Given the description of an element on the screen output the (x, y) to click on. 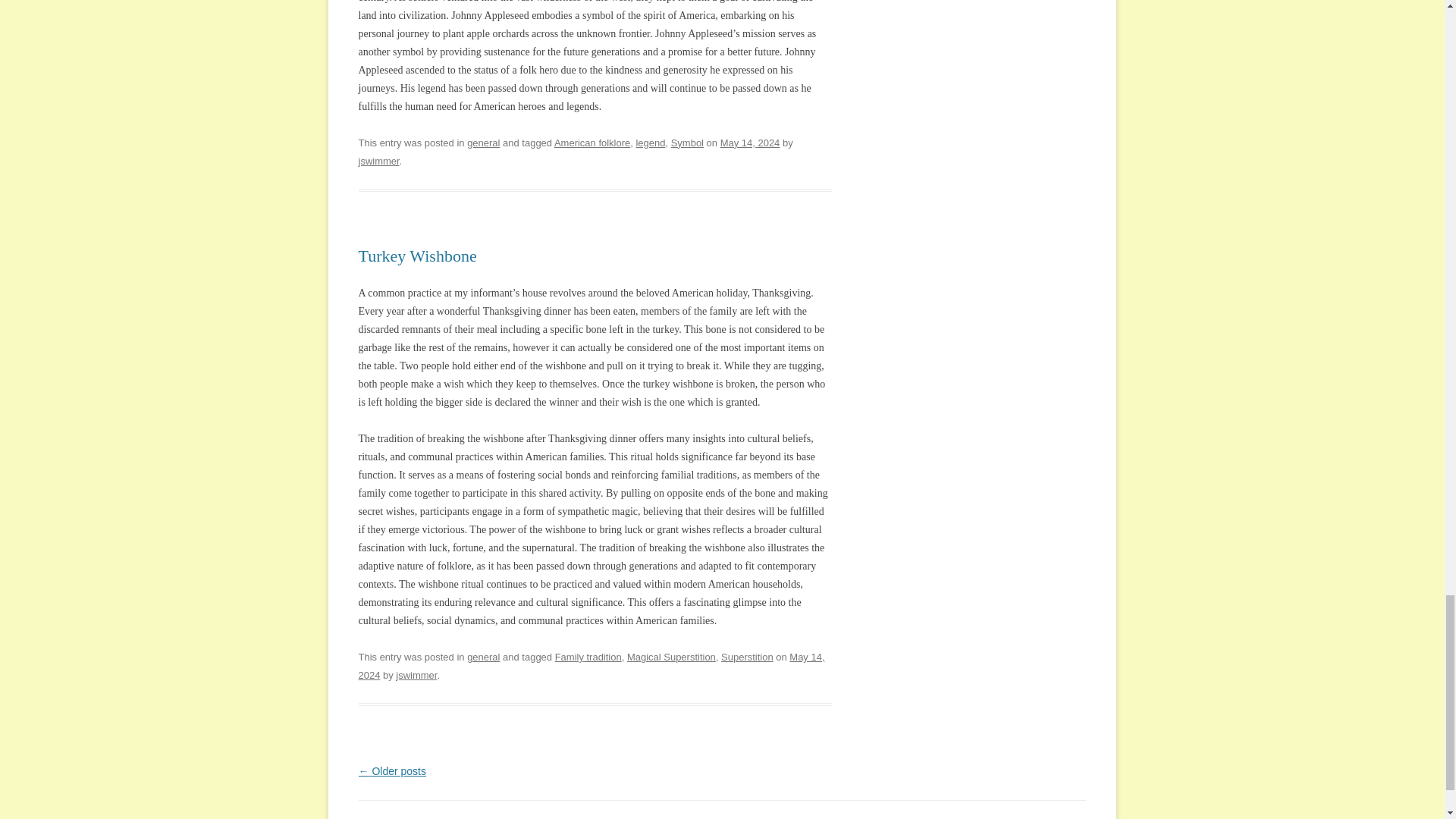
American folklore (592, 142)
10:49 am (750, 142)
jswimmer (378, 161)
May 14, 2024 (750, 142)
View all posts by jswimmer (378, 161)
10:48 am (591, 665)
general (483, 142)
View all posts by jswimmer (416, 674)
Symbol (687, 142)
legend (649, 142)
